Given the description of an element on the screen output the (x, y) to click on. 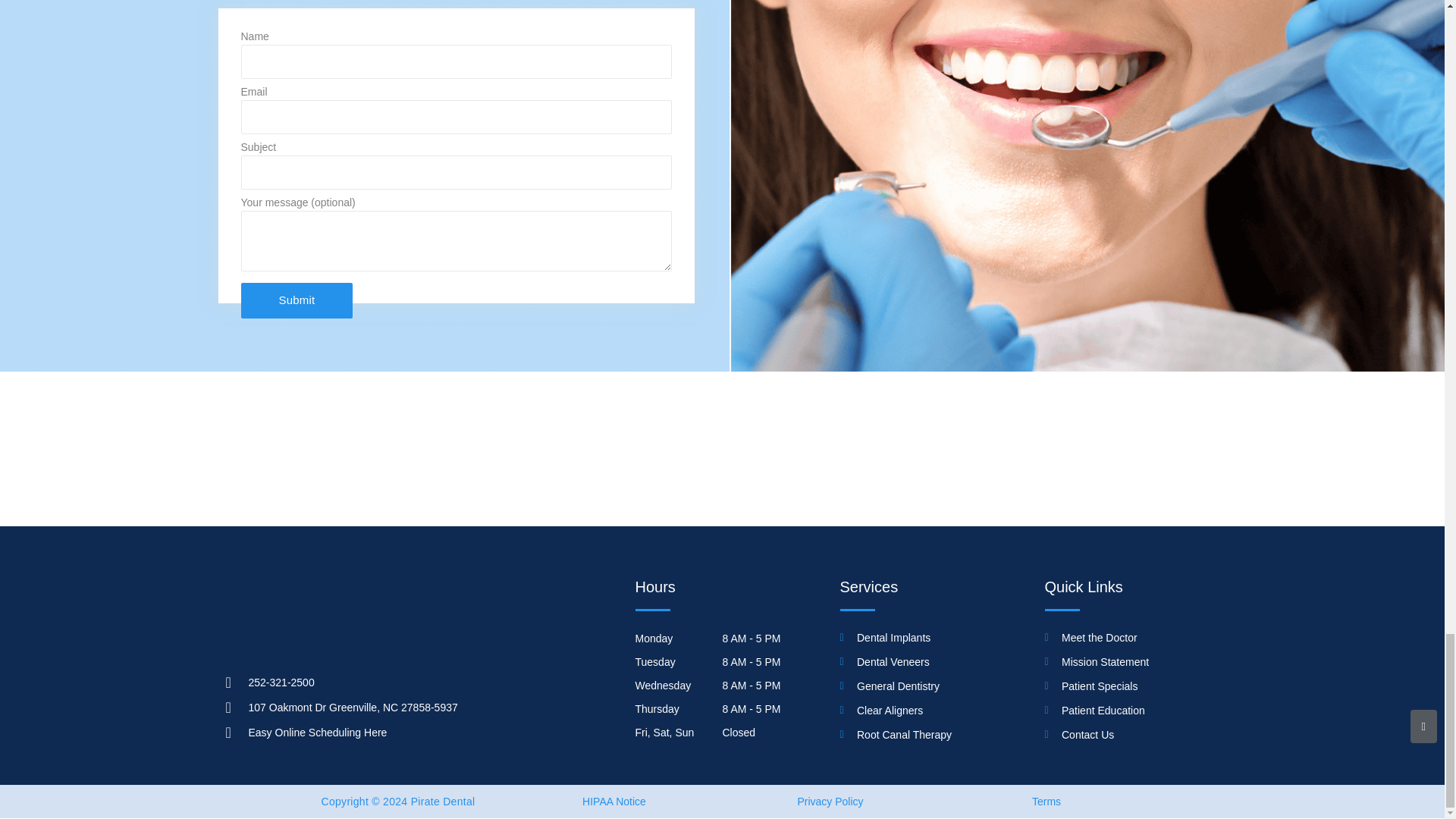
Submit (297, 300)
